Given the description of an element on the screen output the (x, y) to click on. 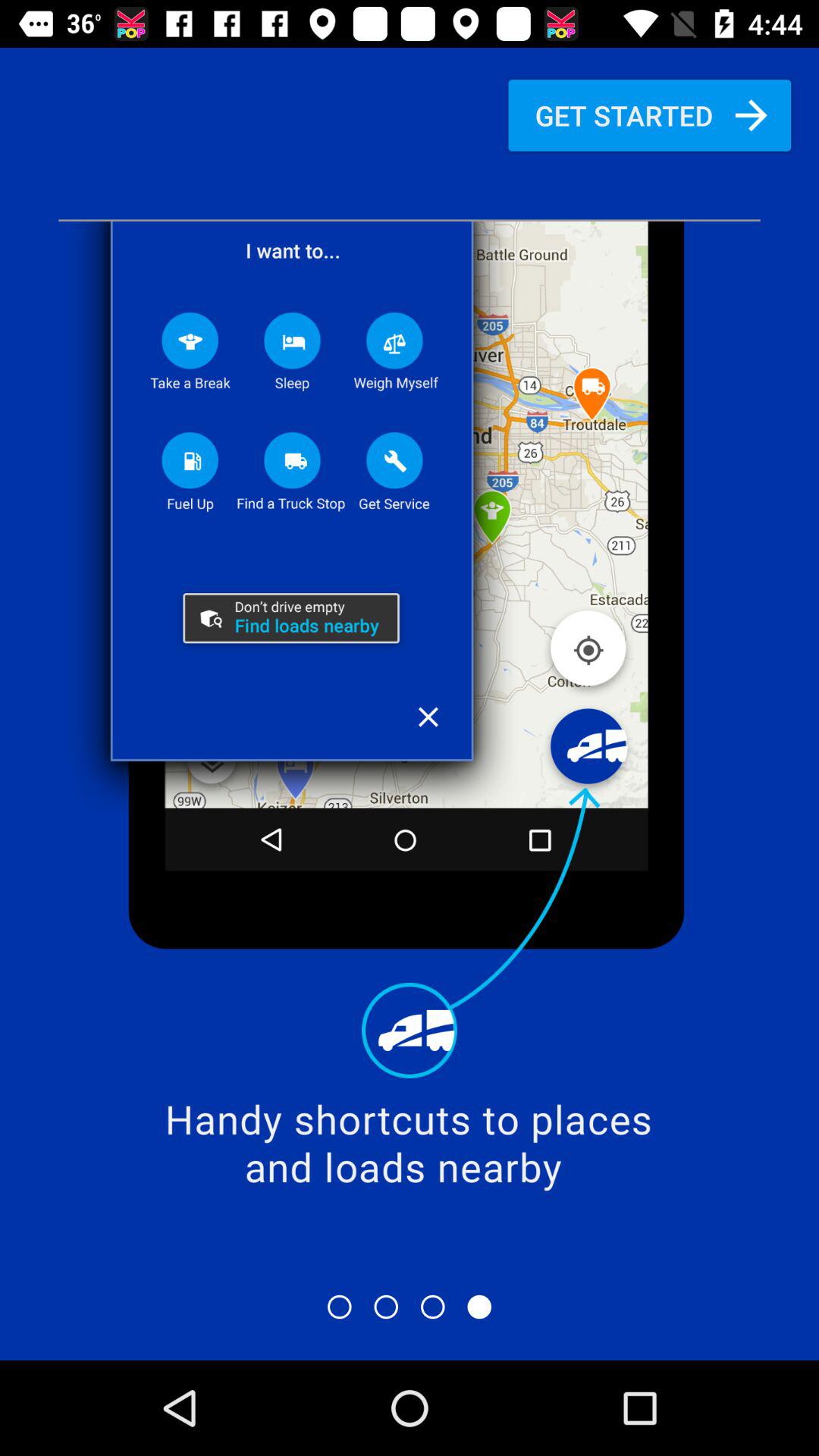
turn on item at the top right corner (649, 115)
